Given the description of an element on the screen output the (x, y) to click on. 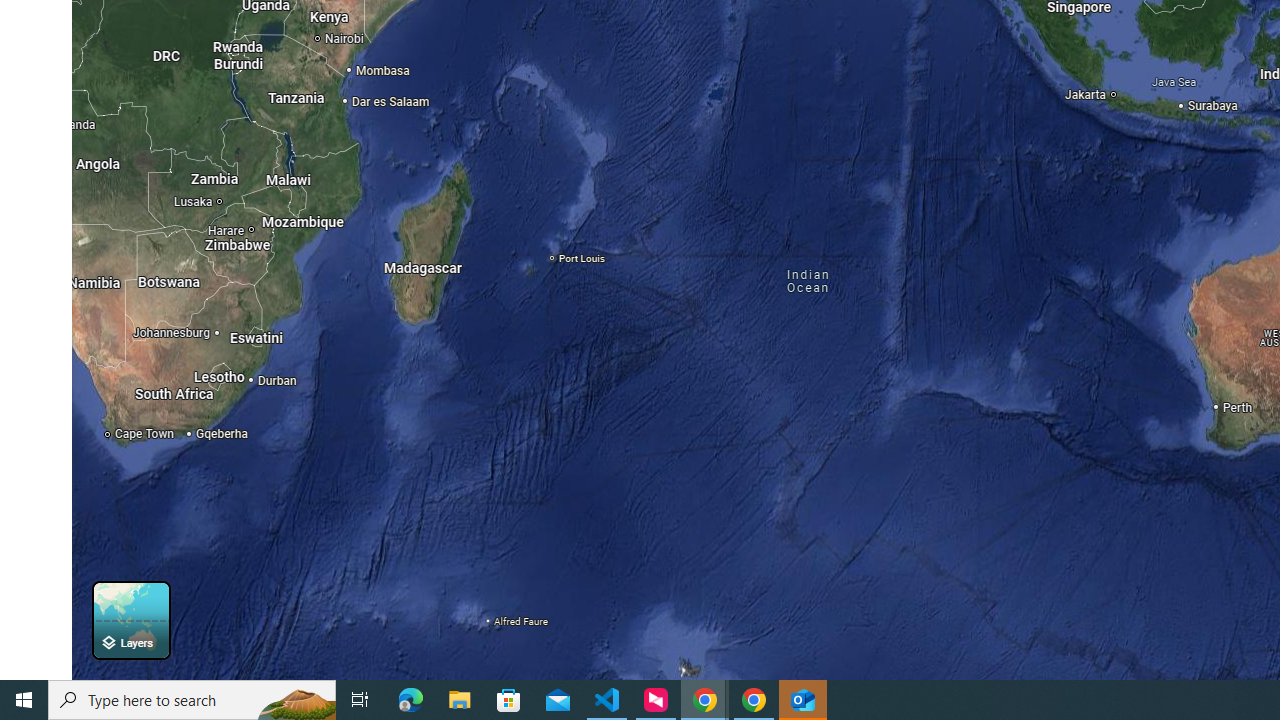
Layers (130, 620)
